Given the description of an element on the screen output the (x, y) to click on. 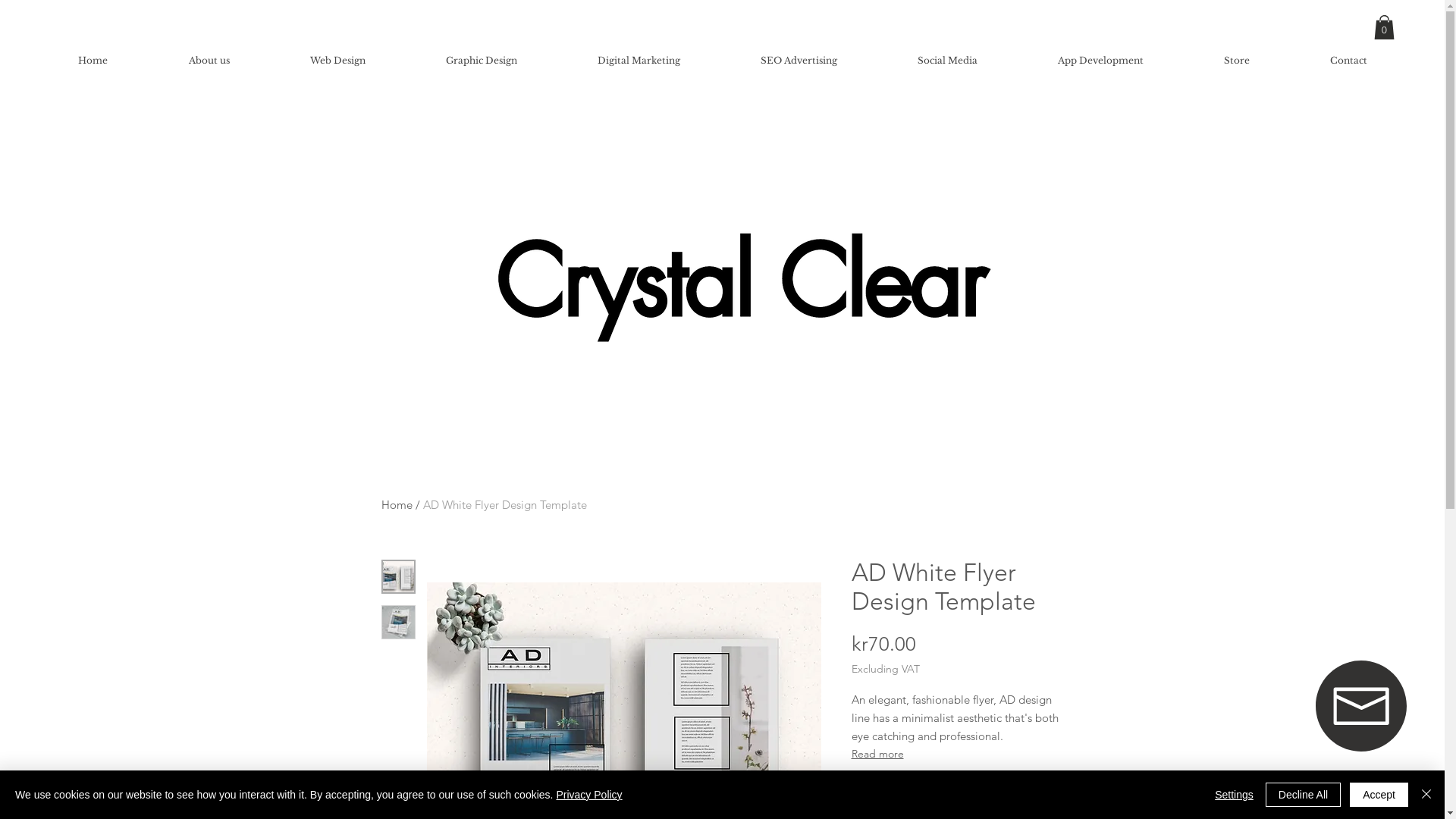
SEO Advertising Element type: text (797, 60)
Contact Element type: text (1347, 60)
Home Element type: text (395, 504)
Privacy Policy Element type: text (588, 794)
Decline All Element type: text (1302, 794)
Social Media Element type: text (946, 60)
Accept Element type: text (1378, 794)
Digital Marketing Element type: text (637, 60)
Home Element type: text (92, 60)
Graphic Design Element type: text (480, 60)
Web Design Element type: text (336, 60)
About us Element type: text (208, 60)
0 Element type: text (1384, 27)
Store Element type: text (1236, 60)
App Development Element type: text (1099, 60)
Add to Cart Element type: text (956, 784)
